Given the description of an element on the screen output the (x, y) to click on. 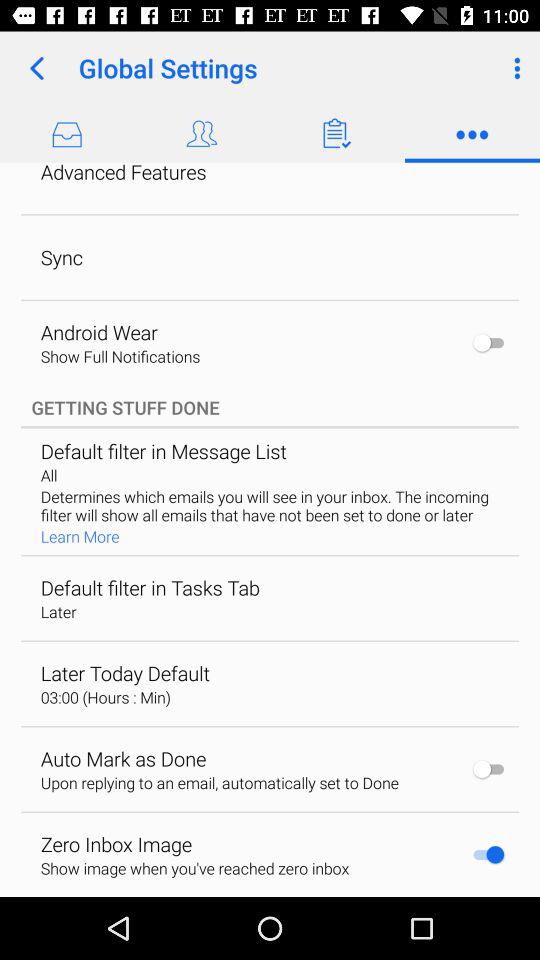
swipe until android wear item (98, 332)
